Given the description of an element on the screen output the (x, y) to click on. 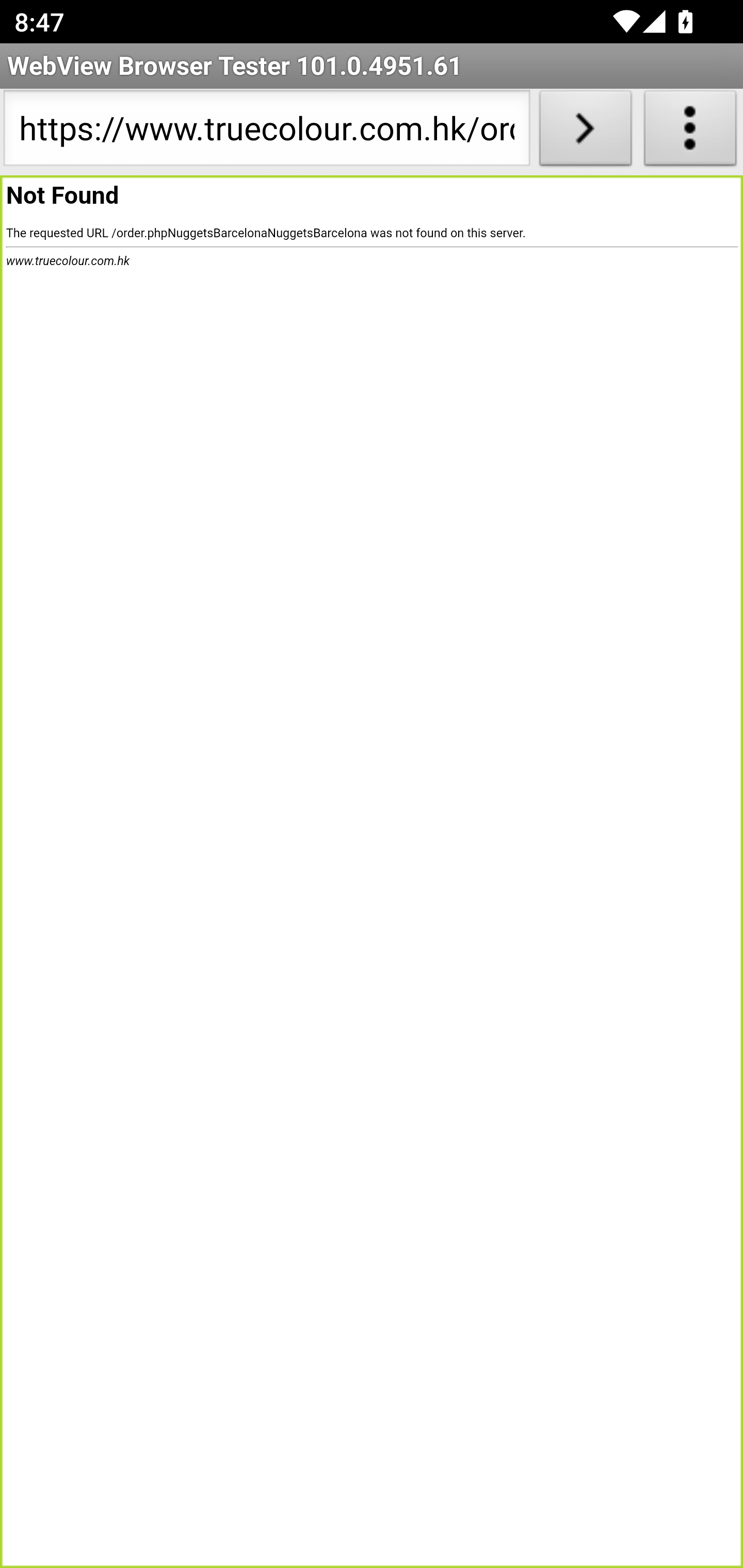
Load URL (585, 132)
About WebView (690, 132)
